Given the description of an element on the screen output the (x, y) to click on. 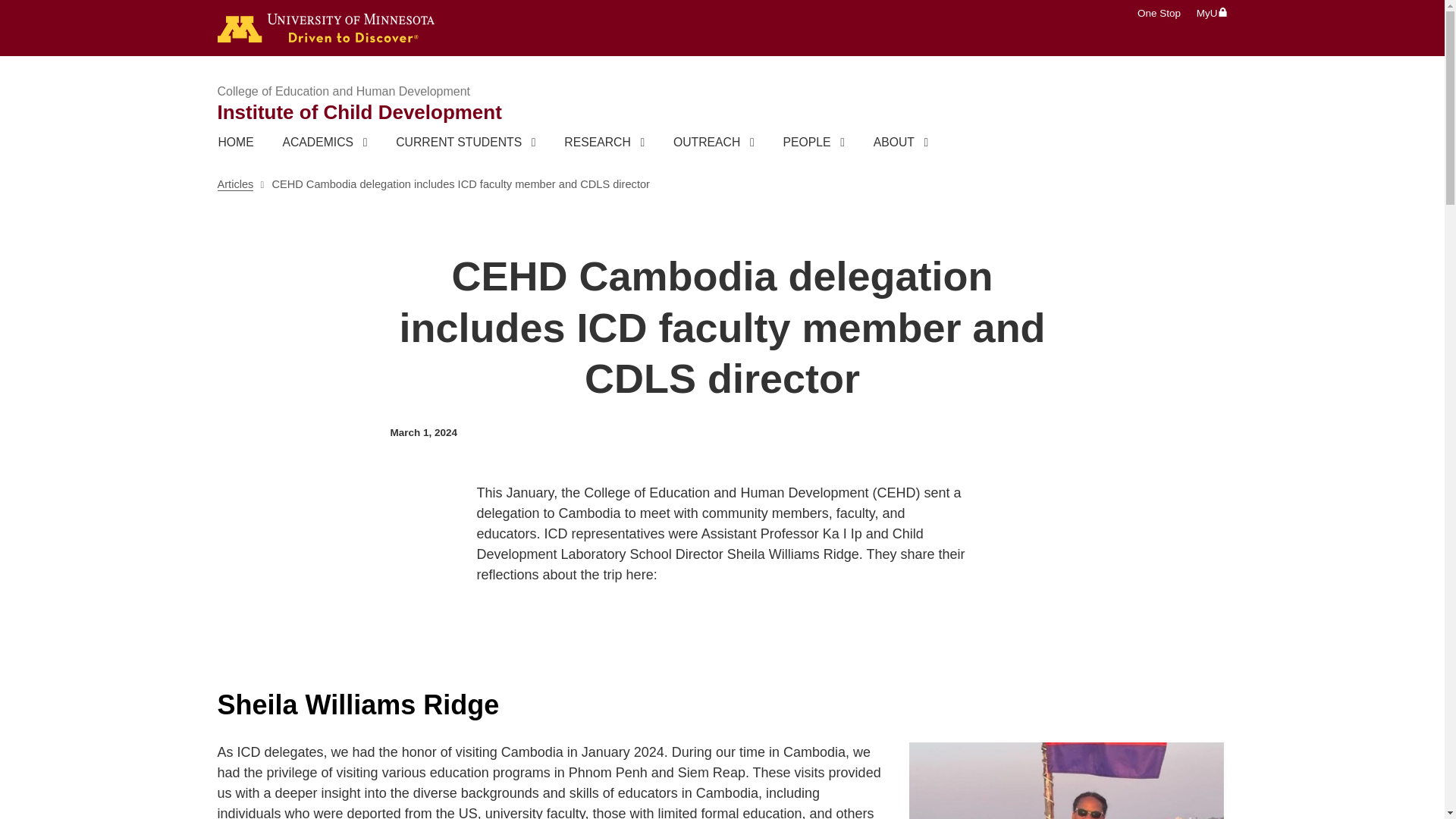
HOME (235, 141)
RESEARCH (604, 141)
Institute of Child Development (358, 111)
ACADEMICS (324, 141)
College of Education and Human Development (343, 91)
CURRENT STUDENTS (465, 141)
One Stop (1158, 12)
MyU (1211, 12)
